Given the description of an element on the screen output the (x, y) to click on. 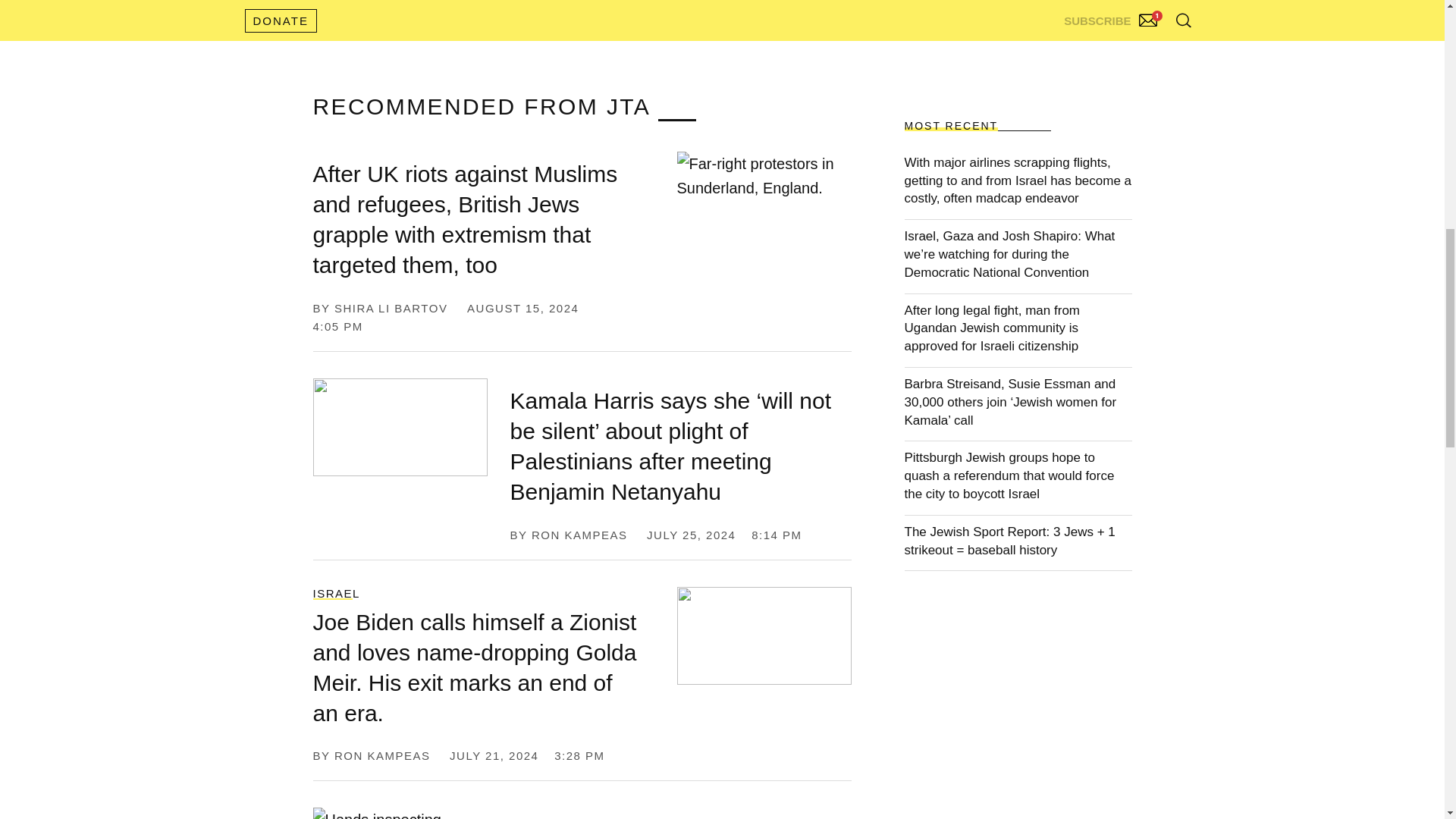
Click to share on Twitter (343, 3)
Click to share on Facebook (419, 3)
Click to email a link to a friend (577, 3)
Click to share on WhatsApp (503, 3)
